Given the description of an element on the screen output the (x, y) to click on. 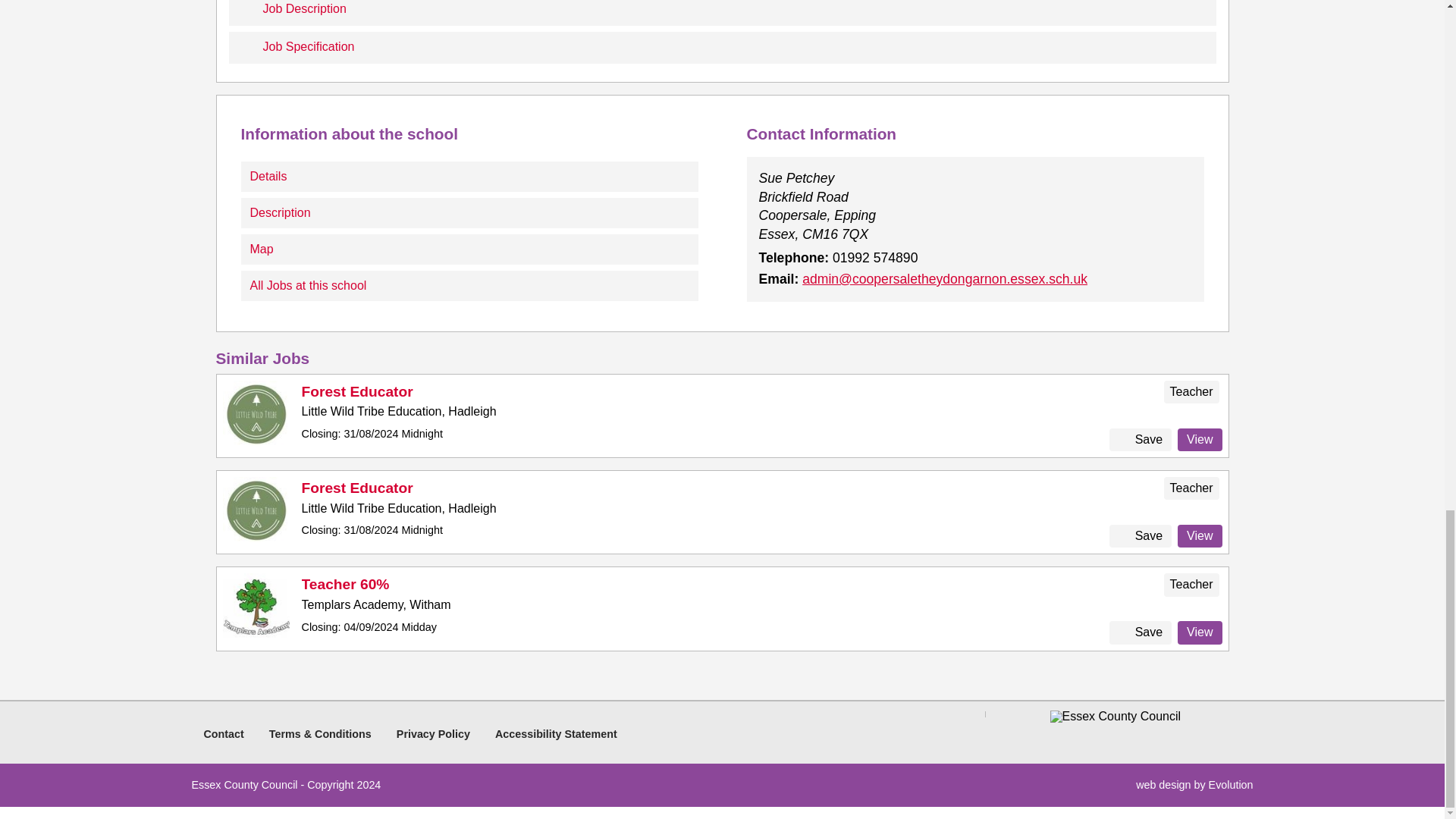
Job Description (721, 12)
Save (1140, 535)
View (1199, 439)
Save (1140, 631)
Forest Educator (357, 487)
Templars Academy school crest. (255, 606)
Save (1140, 439)
Little Wild Tribe Education school crest. (255, 509)
Accessibility Statement (556, 734)
View (1199, 535)
